Given the description of an element on the screen output the (x, y) to click on. 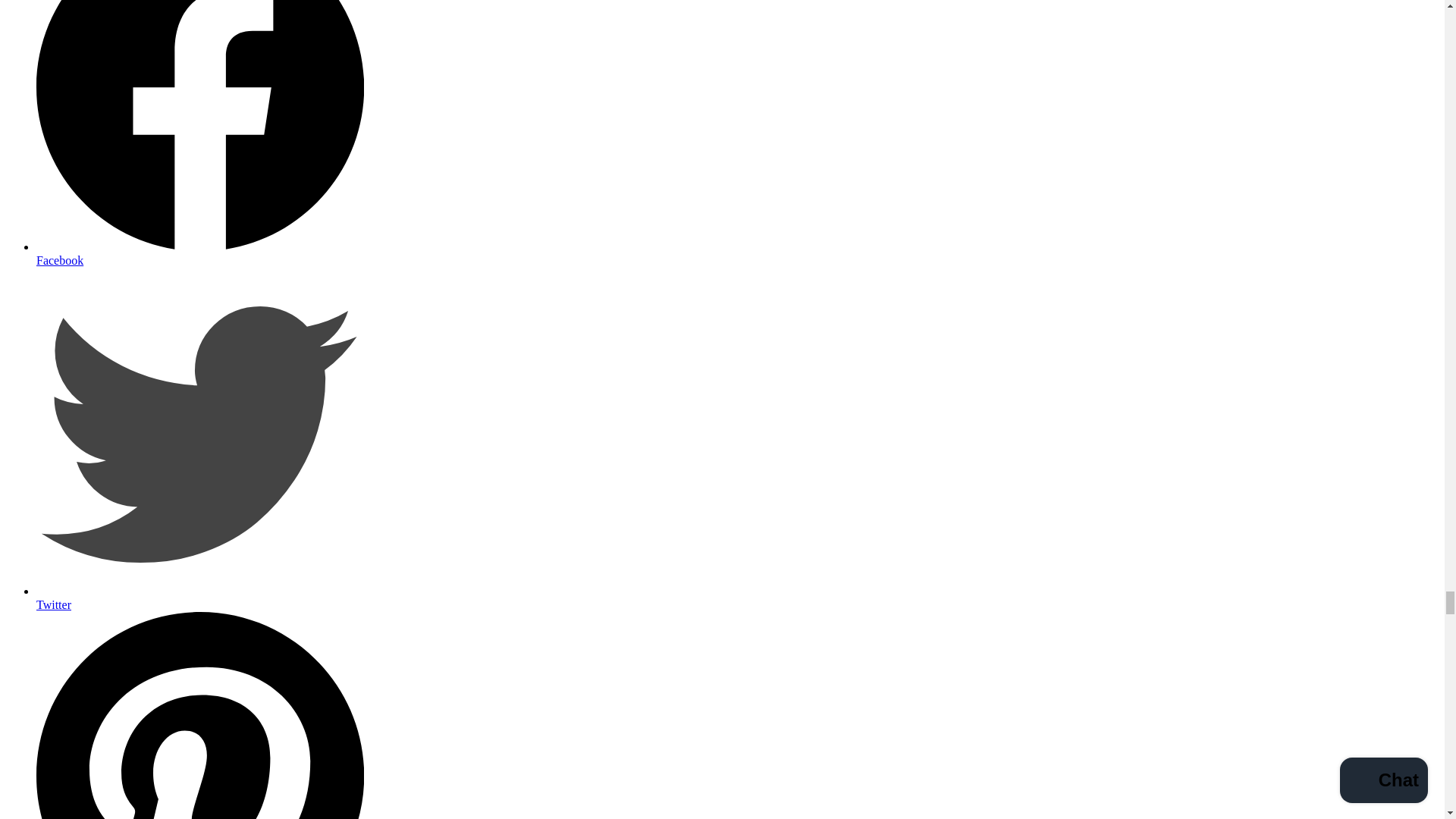
Leatherwear on Facebook (200, 253)
Leatherwear on Twitter (200, 597)
twitter (200, 431)
